Given the description of an element on the screen output the (x, y) to click on. 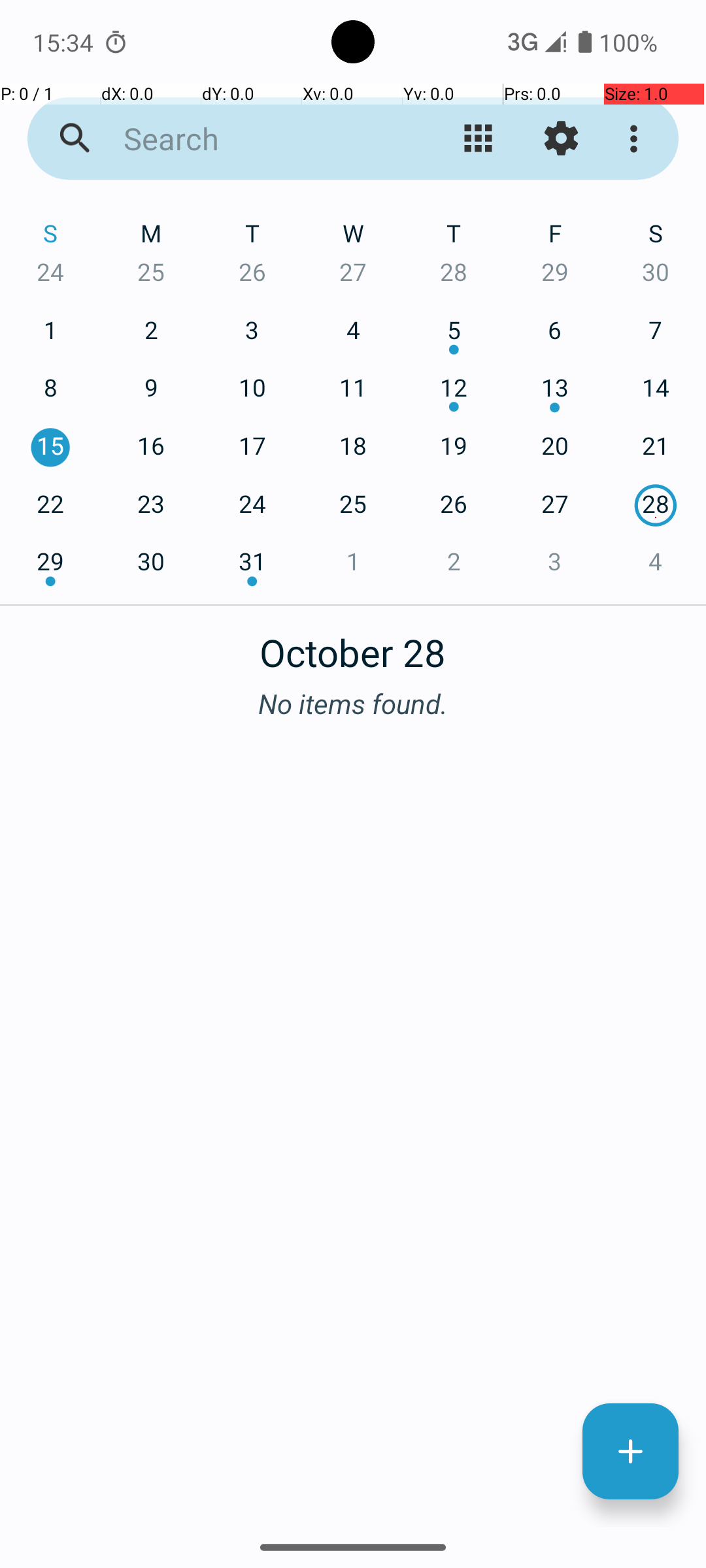
October 28 Element type: android.widget.TextView (352, 644)
